Given the description of an element on the screen output the (x, y) to click on. 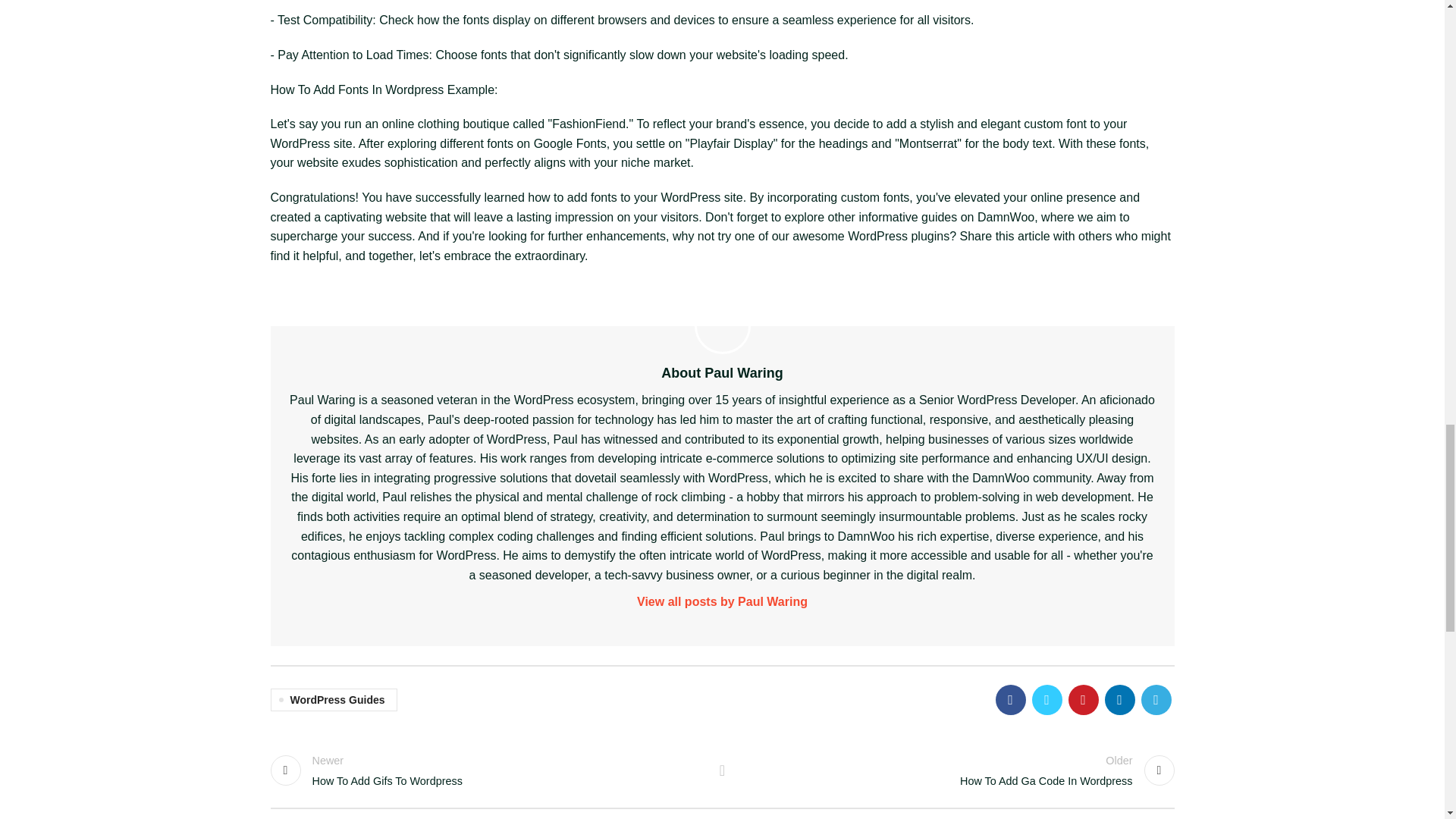
WordPress Guides (332, 699)
Back to list (721, 770)
View all posts by Paul Waring (722, 601)
